Given the description of an element on the screen output the (x, y) to click on. 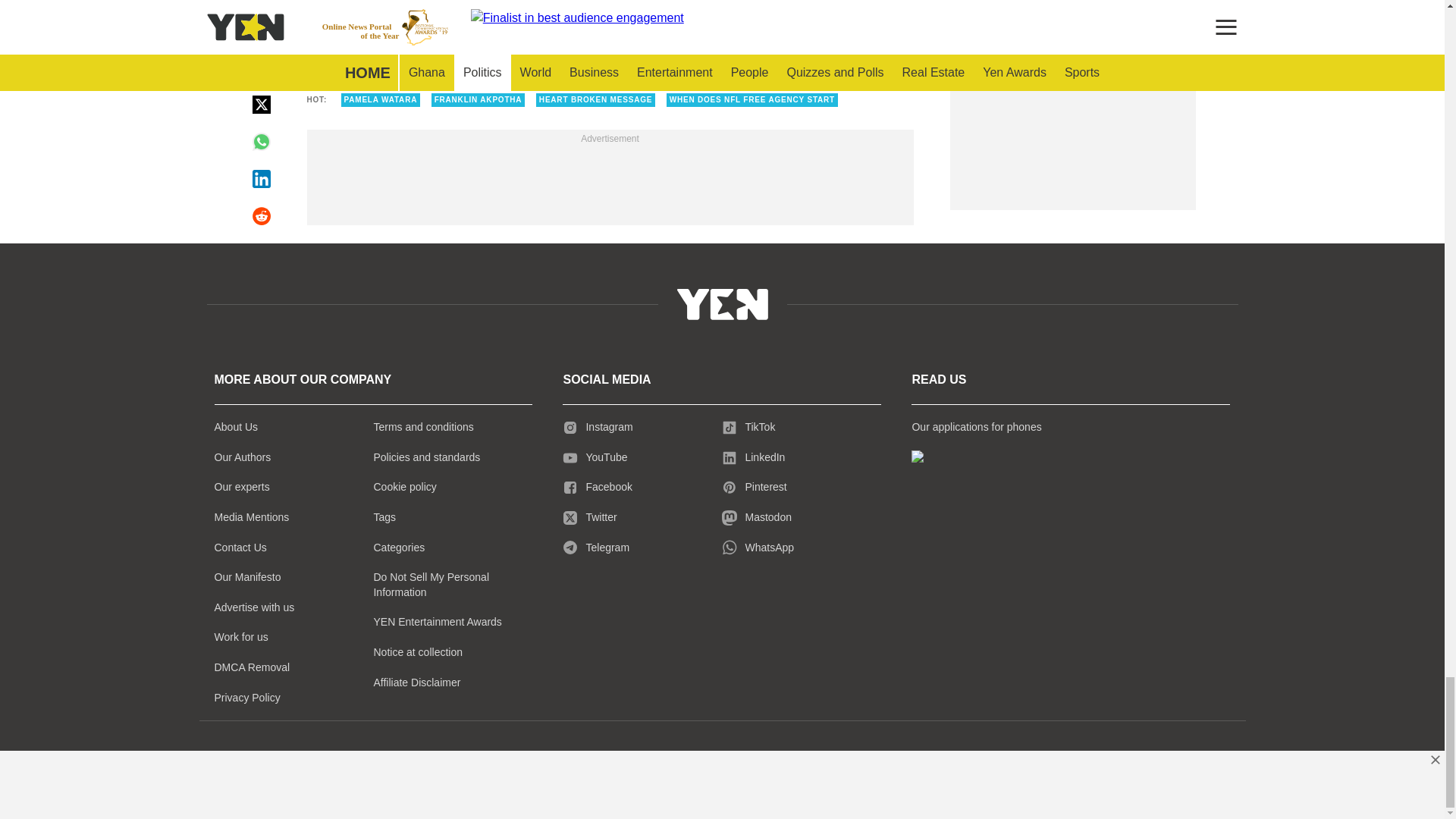
Author page (533, 21)
